Given the description of an element on the screen output the (x, y) to click on. 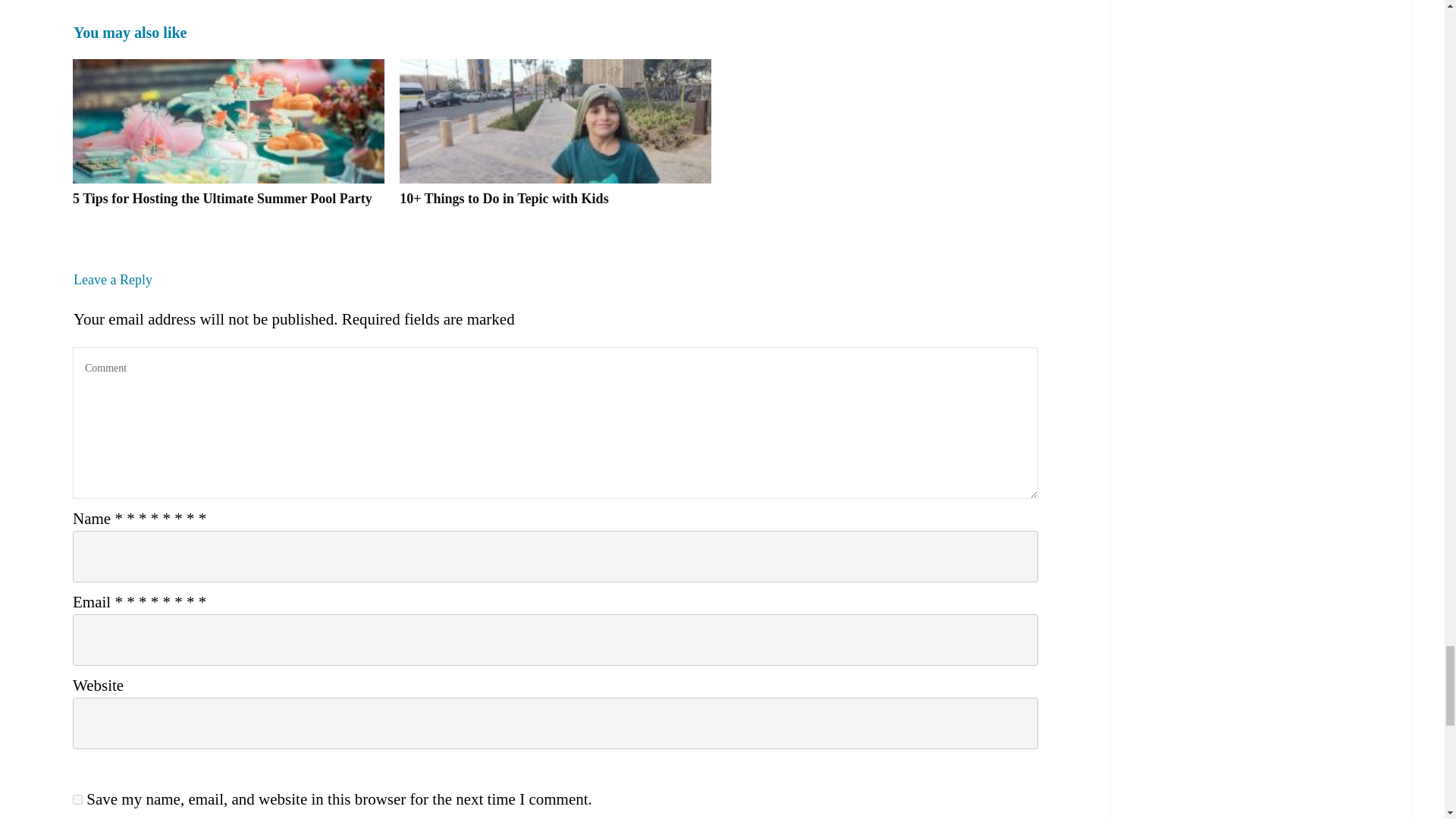
yes (77, 799)
5 Tips for Hosting the Ultimate Summer Pool Party (222, 198)
